Given the description of an element on the screen output the (x, y) to click on. 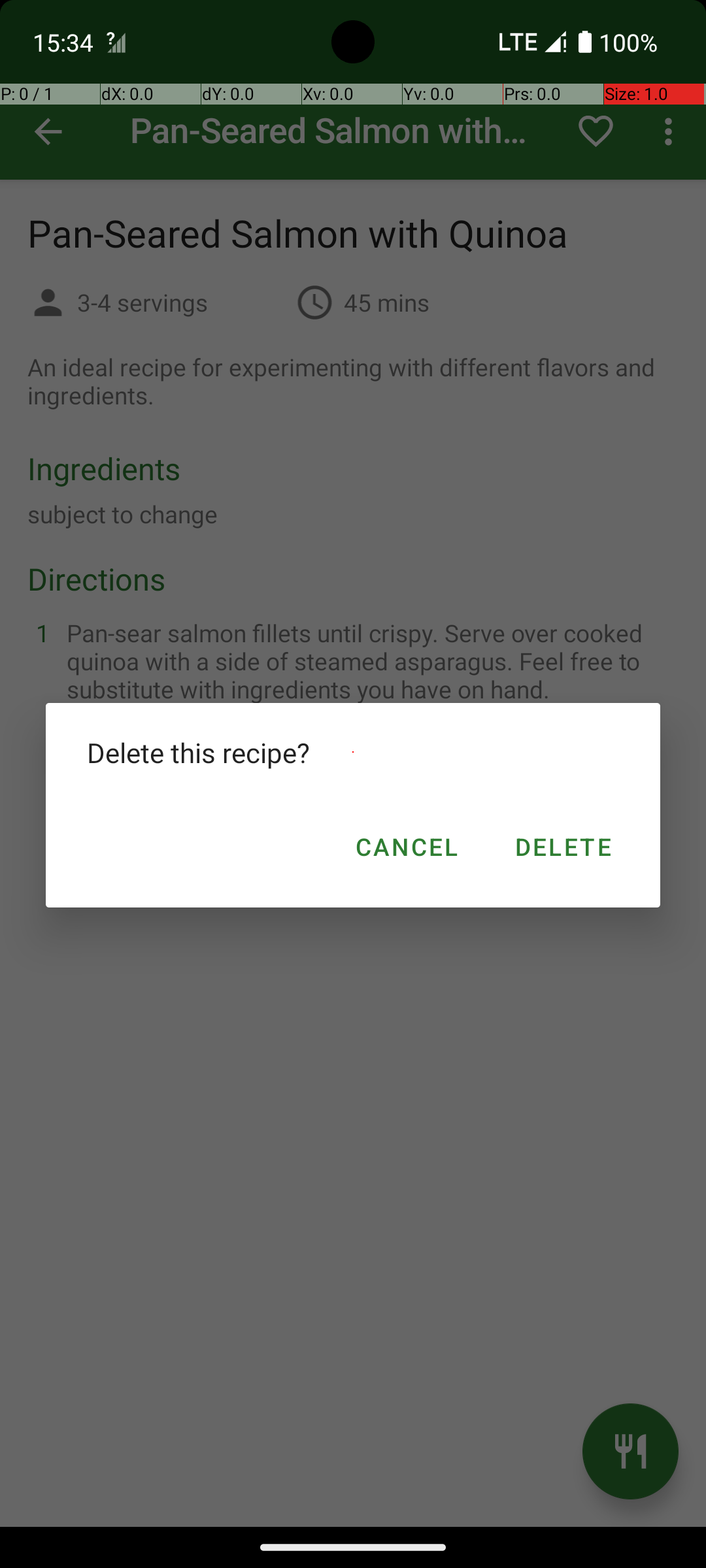
Delete this recipe? Element type: android.widget.TextView (352, 751)
DELETE Element type: android.widget.Button (562, 846)
